Given the description of an element on the screen output the (x, y) to click on. 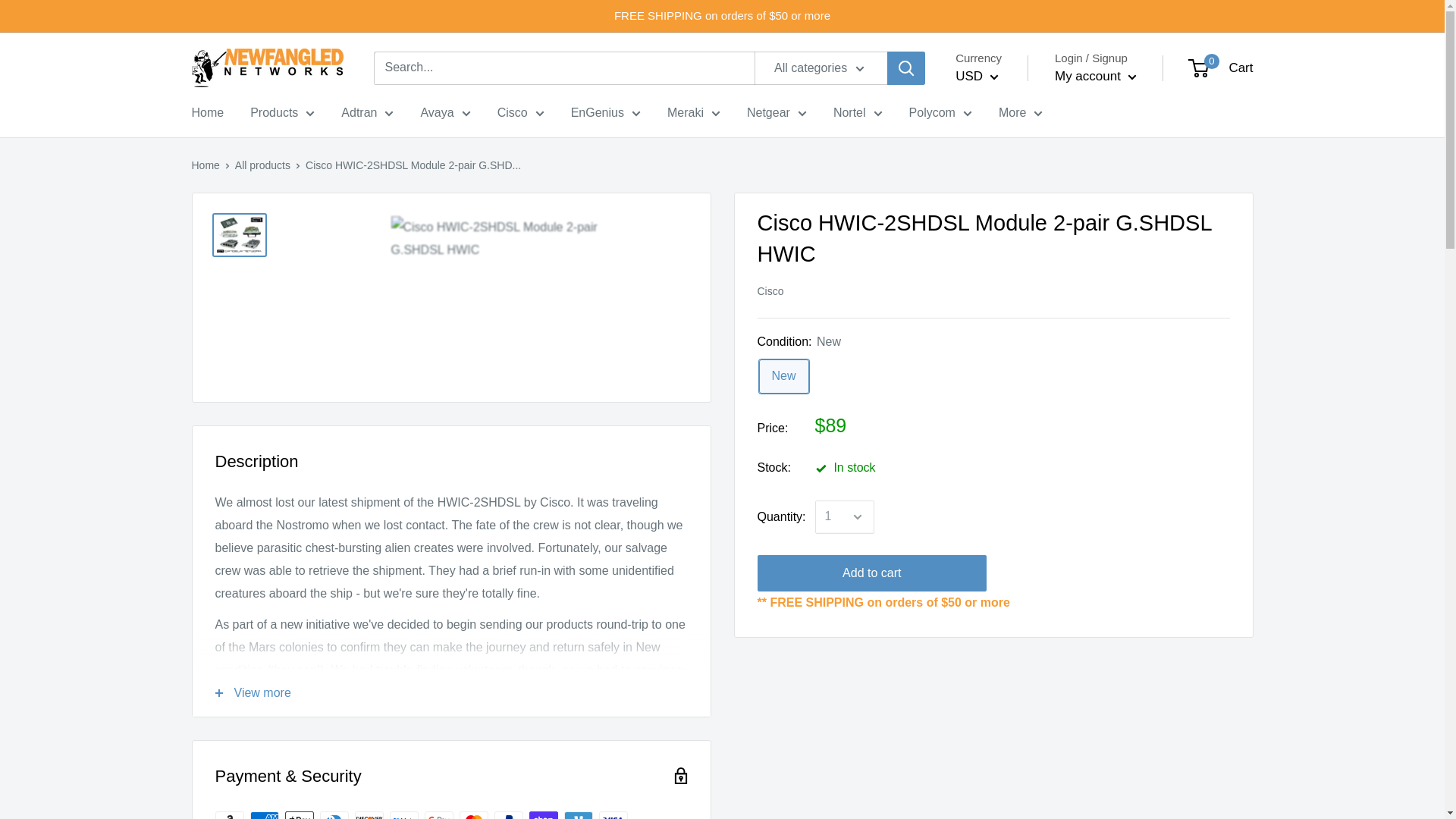
New (783, 376)
